Given the description of an element on the screen output the (x, y) to click on. 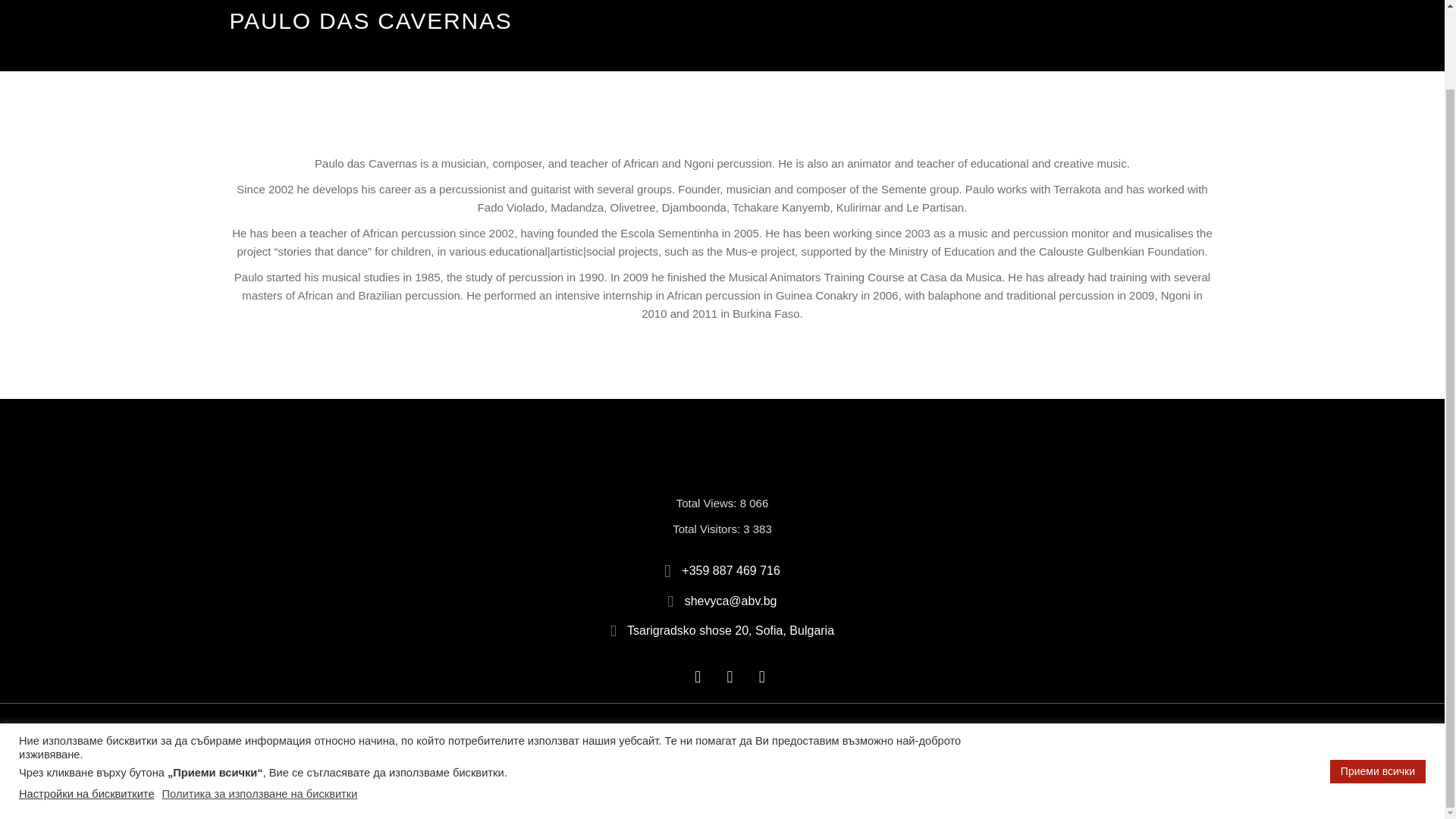
Tsarigradsko shose 20, Sofia, Bulgaria (722, 630)
